Given the description of an element on the screen output the (x, y) to click on. 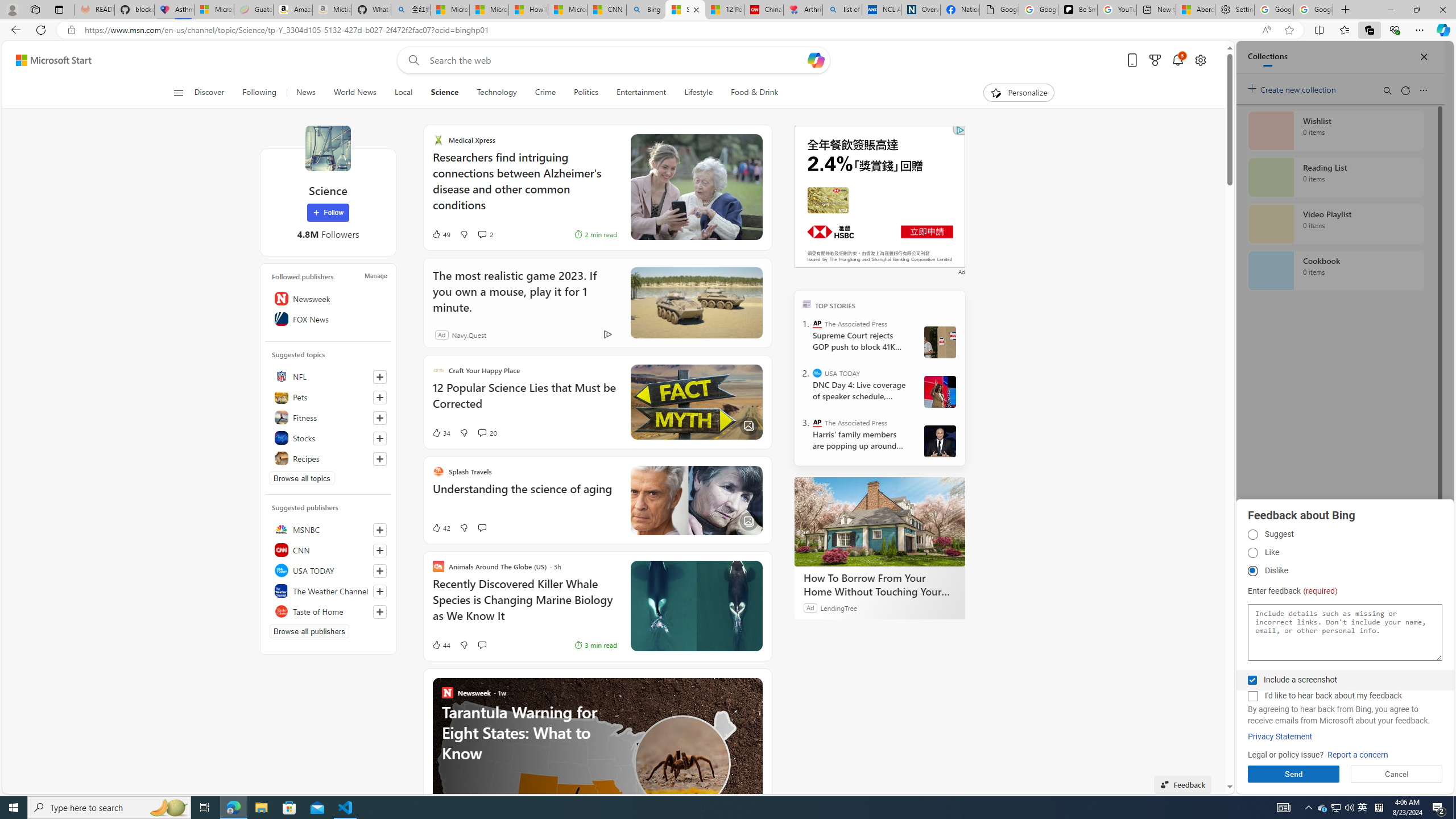
Science - MSN (685, 9)
AutomationID: fbpgdgcmchk (1252, 696)
Bing (646, 9)
CNN - MSN (606, 9)
AutomationID: fbpgdgsschk (1251, 679)
AutomationID: fbpgdgtp1 (1252, 534)
NCL Adult Asthma Inhaler Choice Guideline (881, 9)
